Given the description of an element on the screen output the (x, y) to click on. 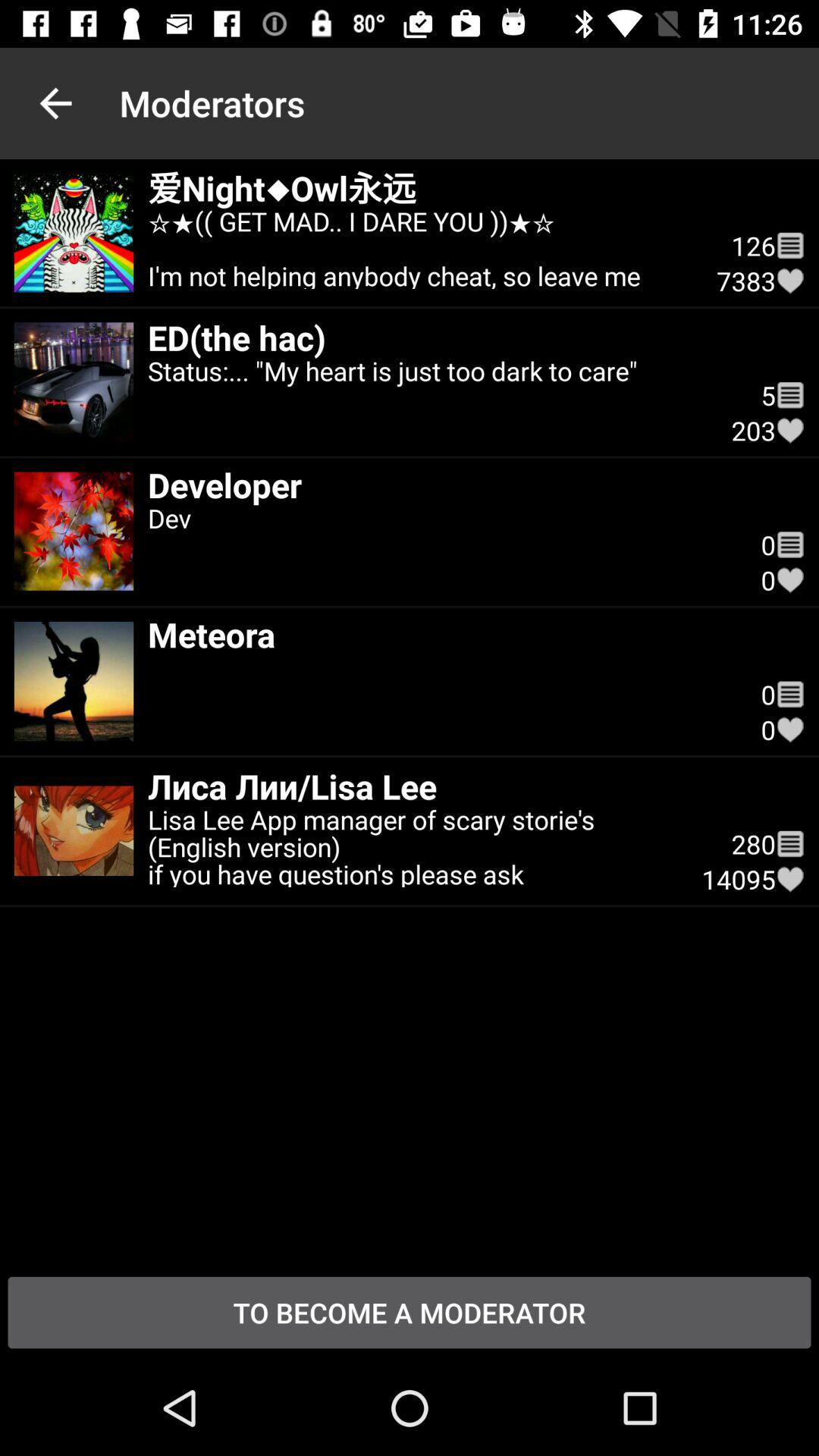
choose the icon below the 14095 (409, 1312)
